Given the description of an element on the screen output the (x, y) to click on. 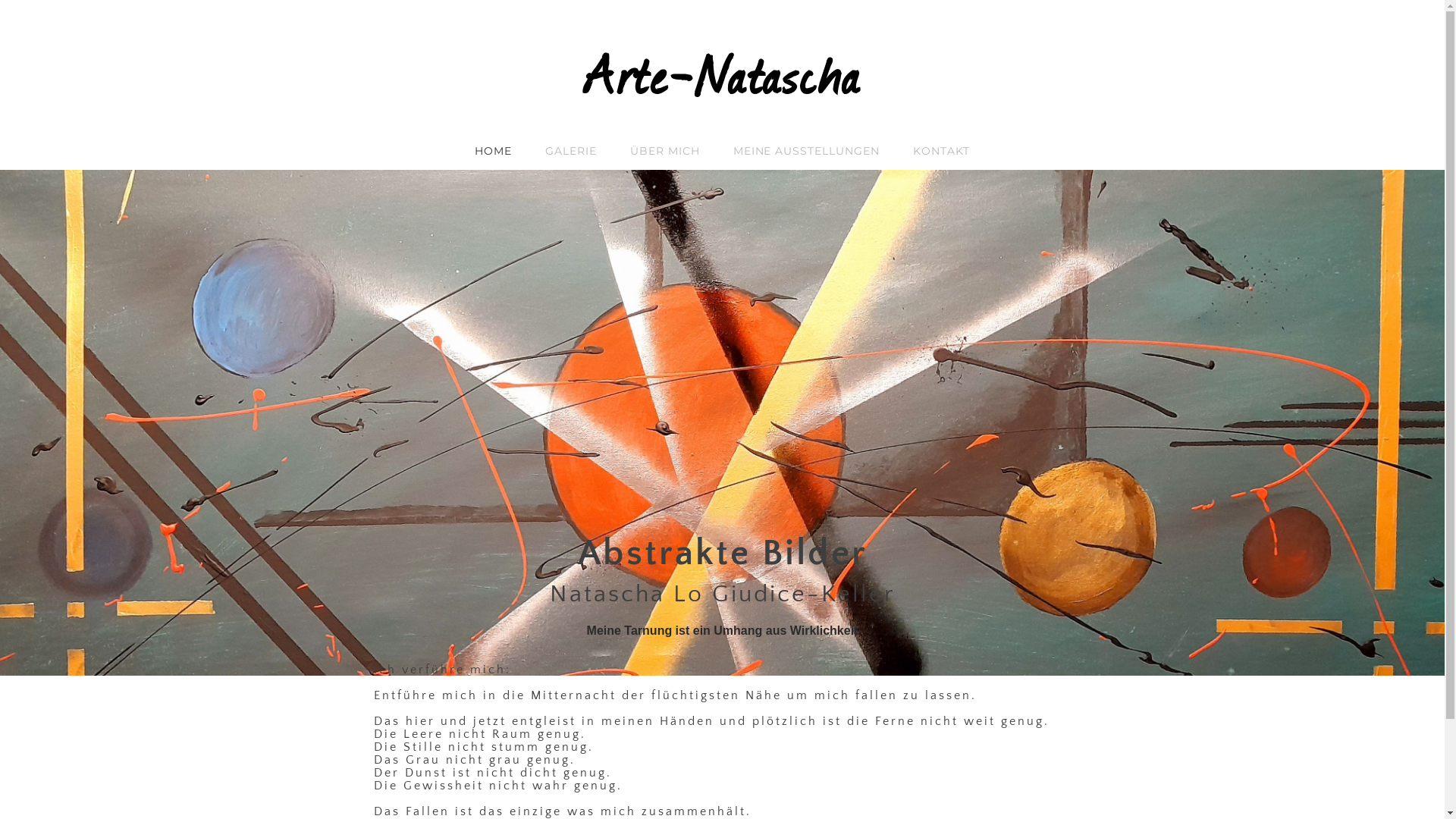
Arte-Natascha Element type: text (722, 73)
HOME Element type: text (493, 151)
KONTAKT Element type: text (941, 151)
GALERIE Element type: text (570, 151)
MEINE AUSSTELLUNGEN Element type: text (806, 151)
